Given the description of an element on the screen output the (x, y) to click on. 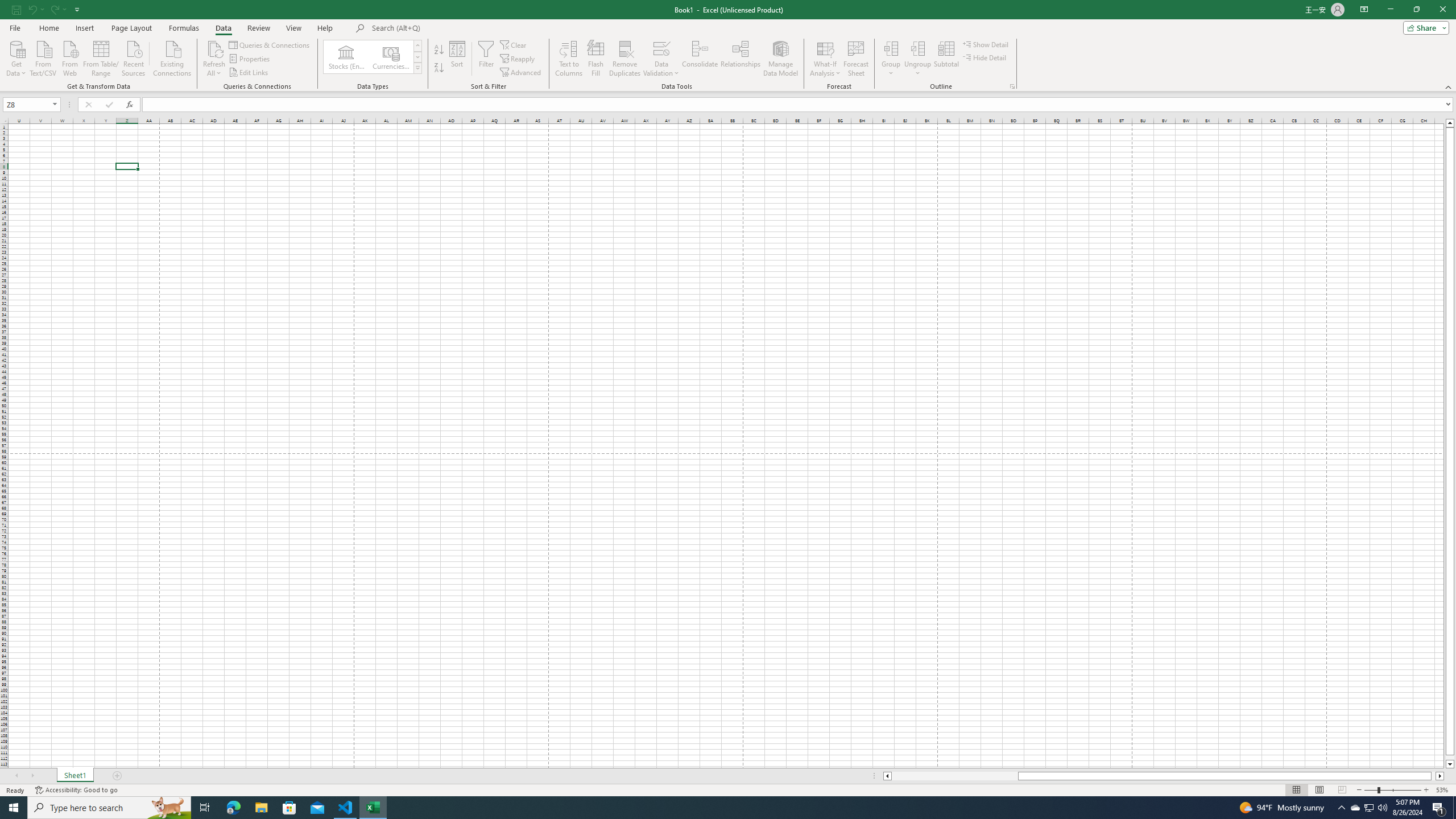
Stocks (English) (346, 56)
Properties (250, 58)
Consolidate... (700, 58)
Filter (485, 58)
Reapply (517, 58)
